Given the description of an element on the screen output the (x, y) to click on. 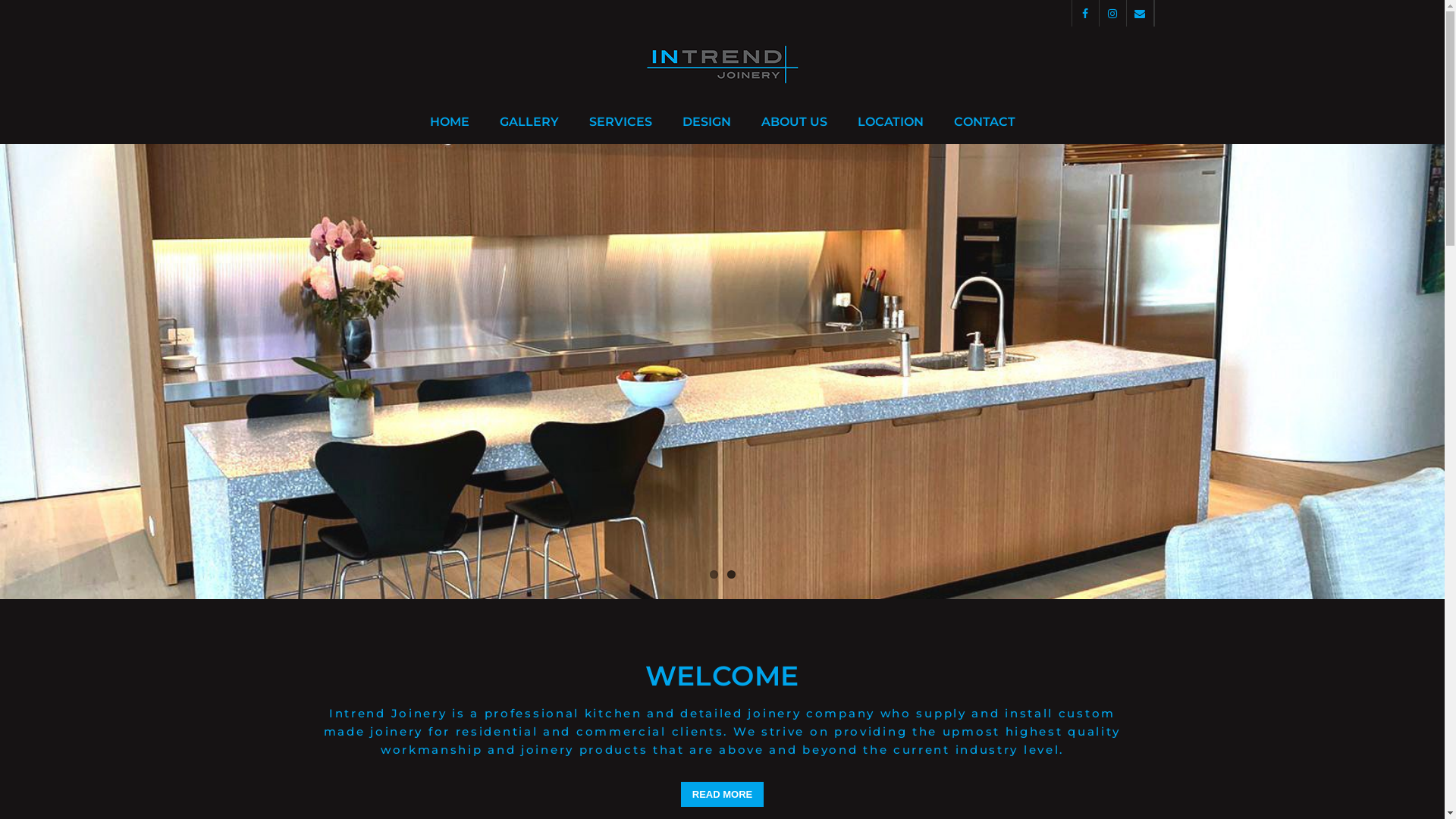
CONTACT Element type: text (984, 122)
DESIGN Element type: text (706, 122)
1 Element type: text (713, 574)
GALLERY Element type: text (528, 122)
LOCATION Element type: text (889, 122)
2 Element type: text (730, 574)
HOME Element type: text (448, 122)
READ MORE Element type: text (721, 793)
ABOUT US Element type: text (794, 122)
SERVICES Element type: text (619, 122)
